Given the description of an element on the screen output the (x, y) to click on. 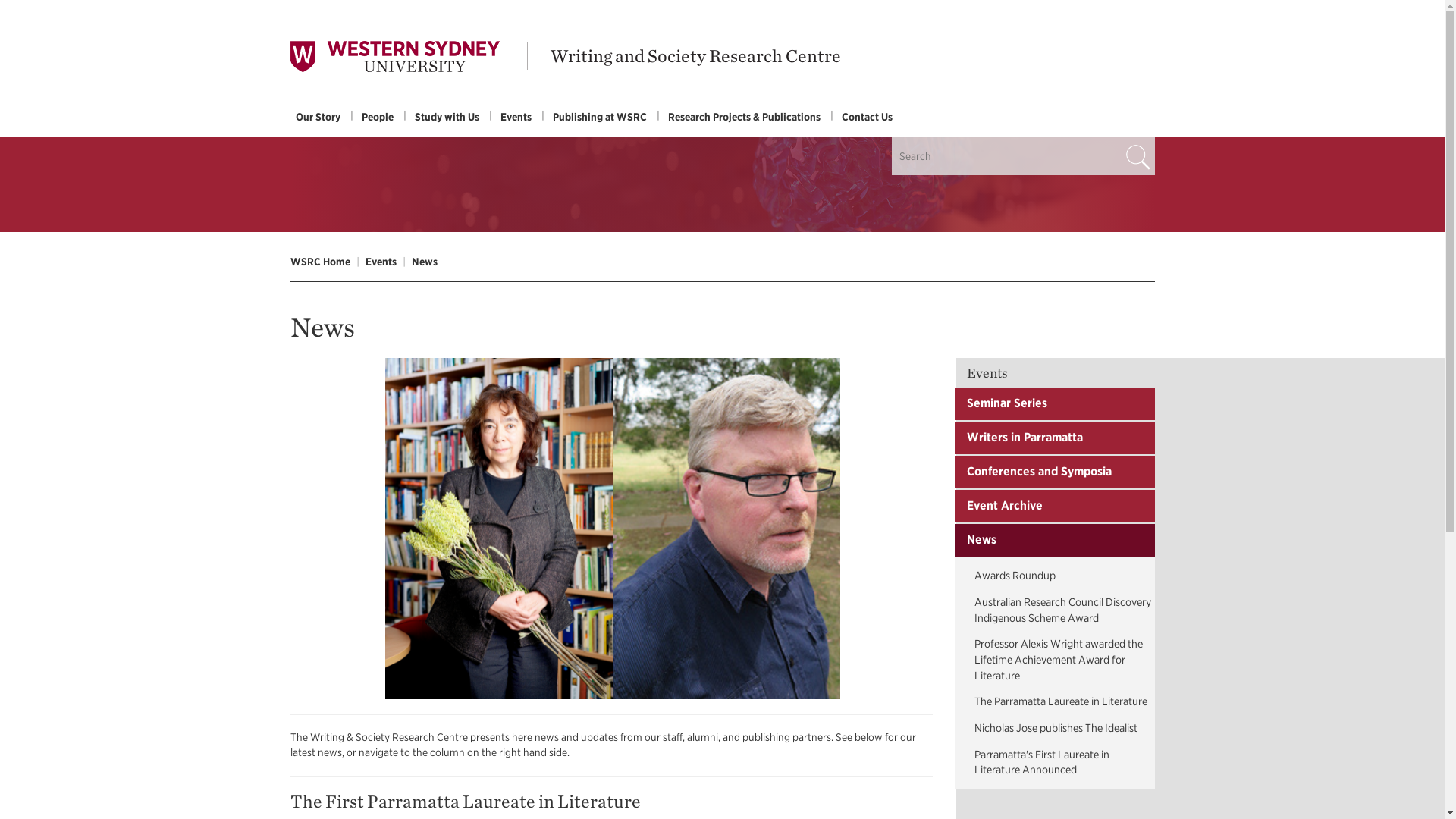
Events (516, 116)
Events (380, 261)
People (377, 116)
Our Story (317, 116)
WSRC Home (319, 261)
Contact Us (866, 116)
Study with Us (446, 116)
Publishing at WSRC (599, 116)
Writing and Society Research Centre (695, 55)
